Given the description of an element on the screen output the (x, y) to click on. 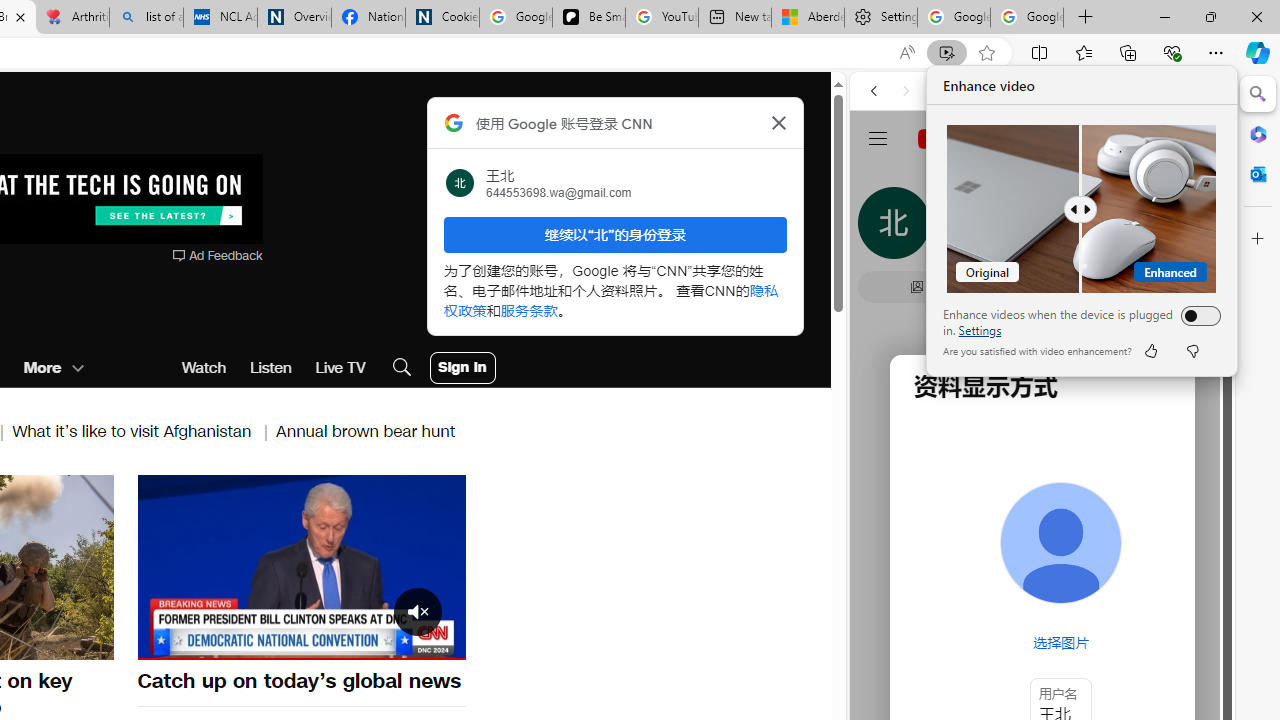
Trailer #2 [HD] (1042, 592)
Like (1150, 350)
User Account Log In Button (462, 367)
Trailer #2 [HD] (1042, 594)
Class: Bz112c Bz112c-r9oPif (778, 122)
